Given the description of an element on the screen output the (x, y) to click on. 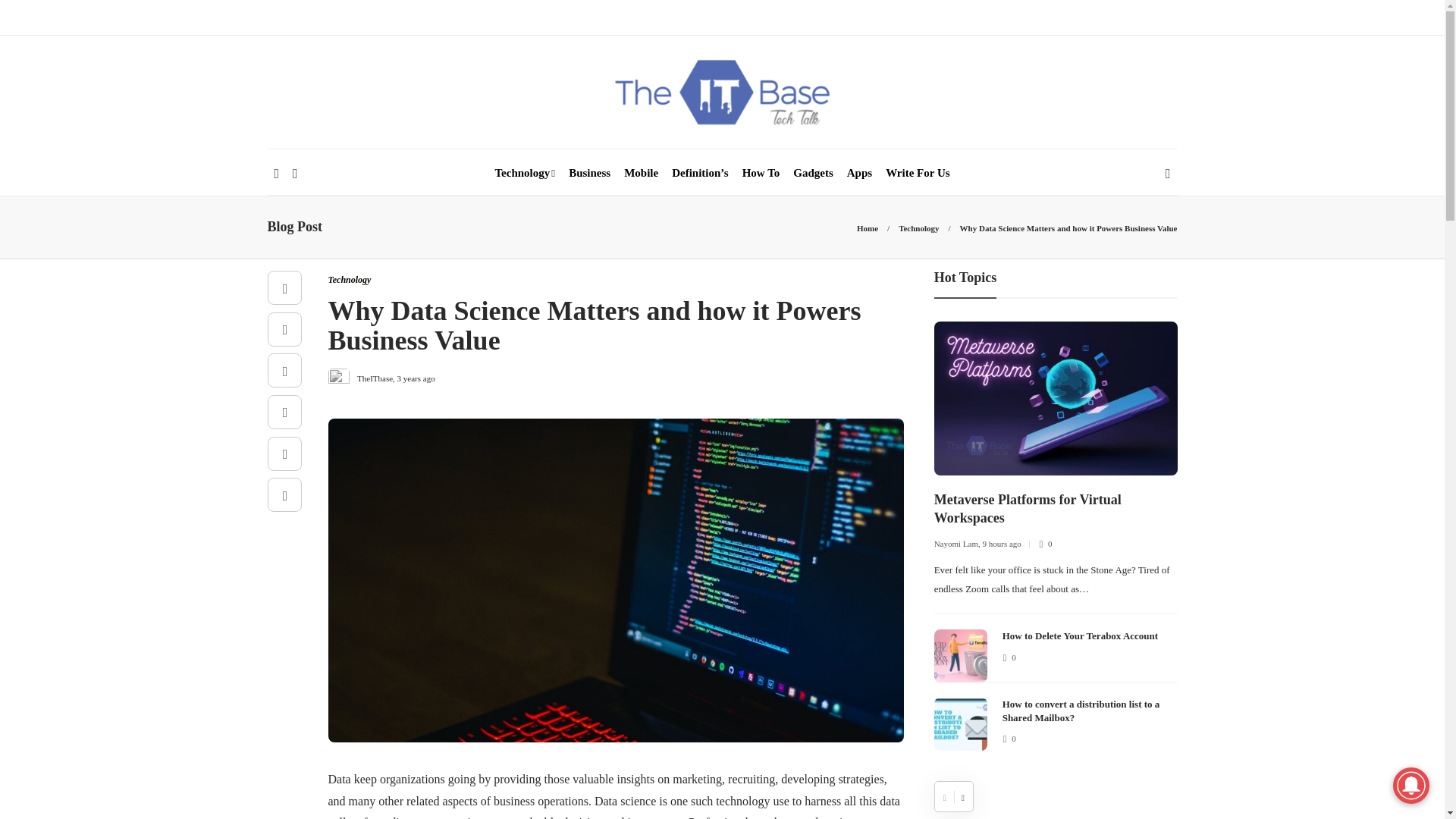
About Us (289, 17)
Home (867, 227)
Contact Us (481, 17)
Why Data Science Matters and how it Powers Business Value (1068, 227)
Write For Us (403, 17)
